Given the description of an element on the screen output the (x, y) to click on. 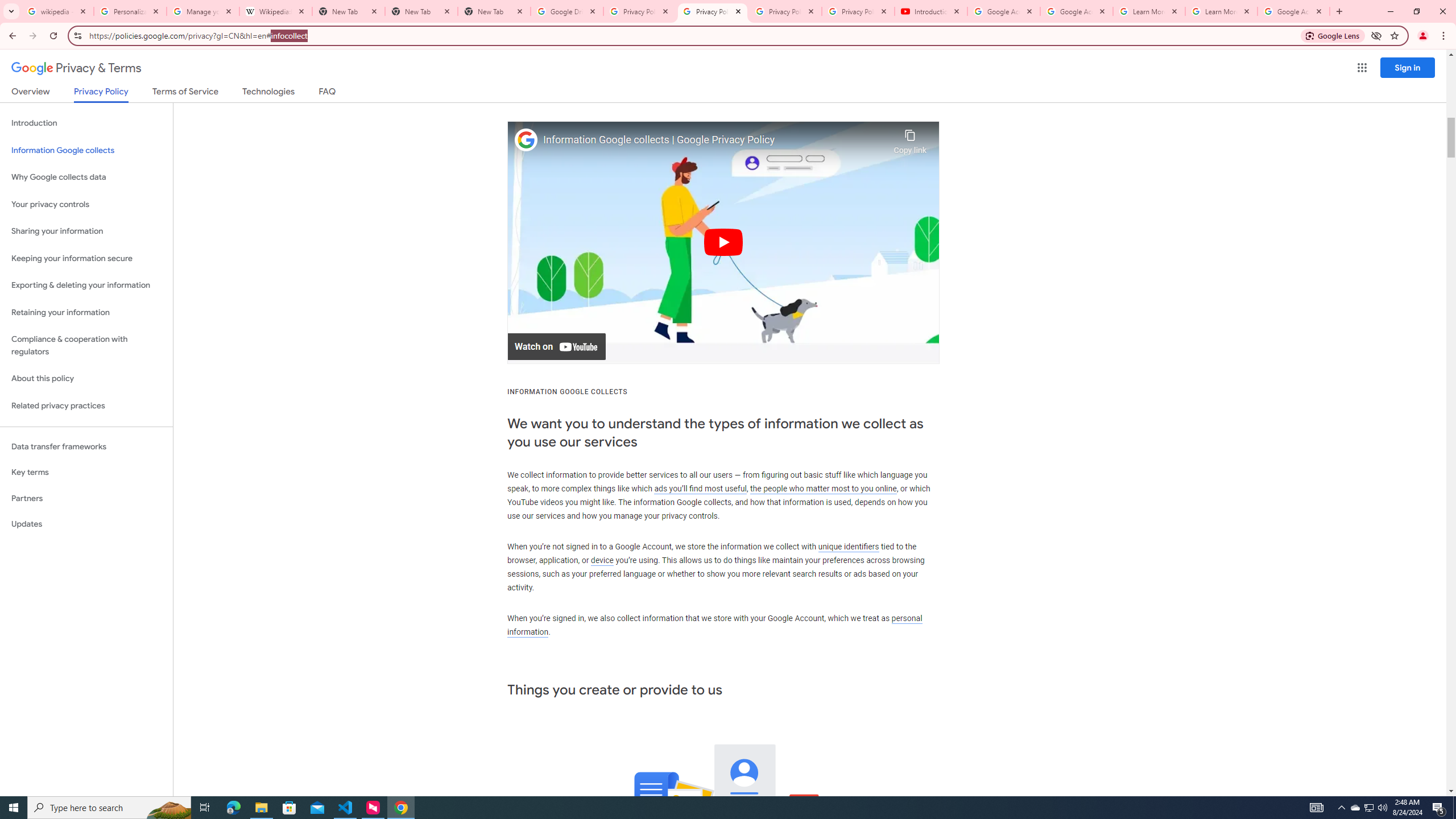
personal information (714, 625)
Wikipedia:Edit requests - Wikipedia (275, 11)
Your privacy controls (86, 204)
About this policy (86, 379)
Key terms (86, 472)
Introduction | Google Privacy Policy - YouTube (930, 11)
